Given the description of an element on the screen output the (x, y) to click on. 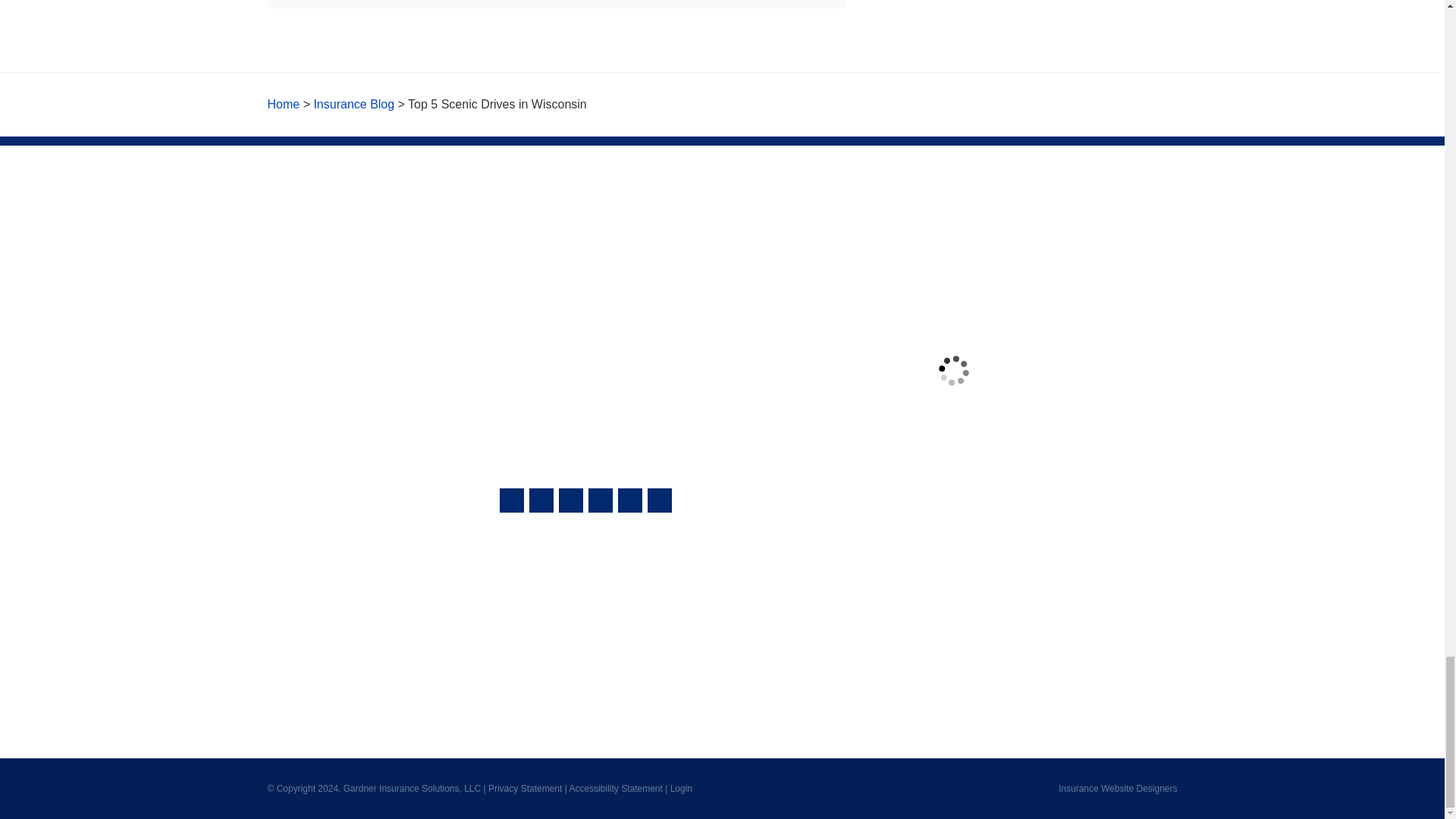
Instagram (659, 500)
X (600, 500)
Google Maps (511, 500)
Yelp (541, 500)
LinkedIn (629, 500)
Facebook (571, 500)
